Given the description of an element on the screen output the (x, y) to click on. 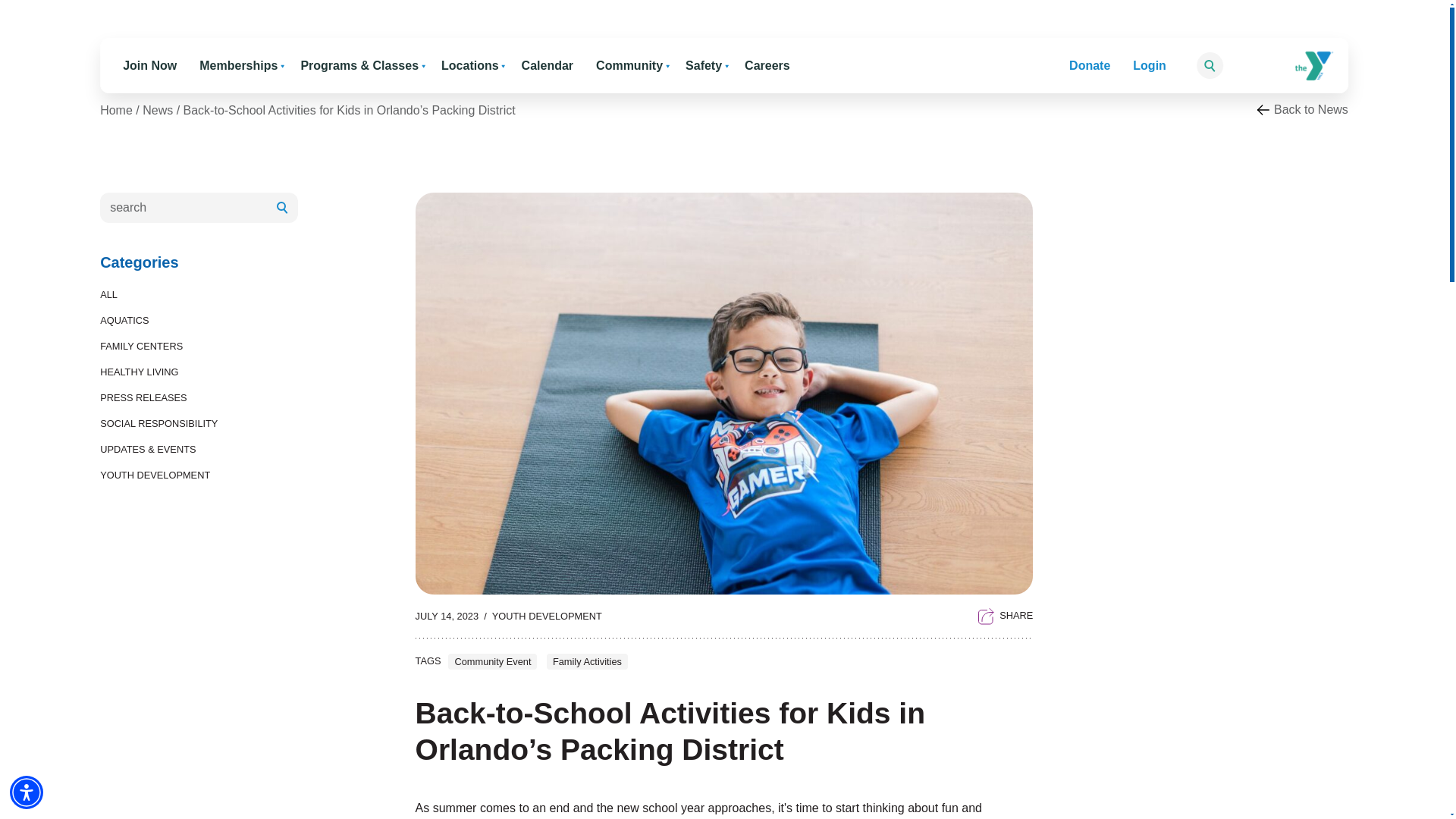
Home (1367, 105)
Memberships (238, 65)
Accessibility Menu (26, 792)
Join Now (149, 65)
